Given the description of an element on the screen output the (x, y) to click on. 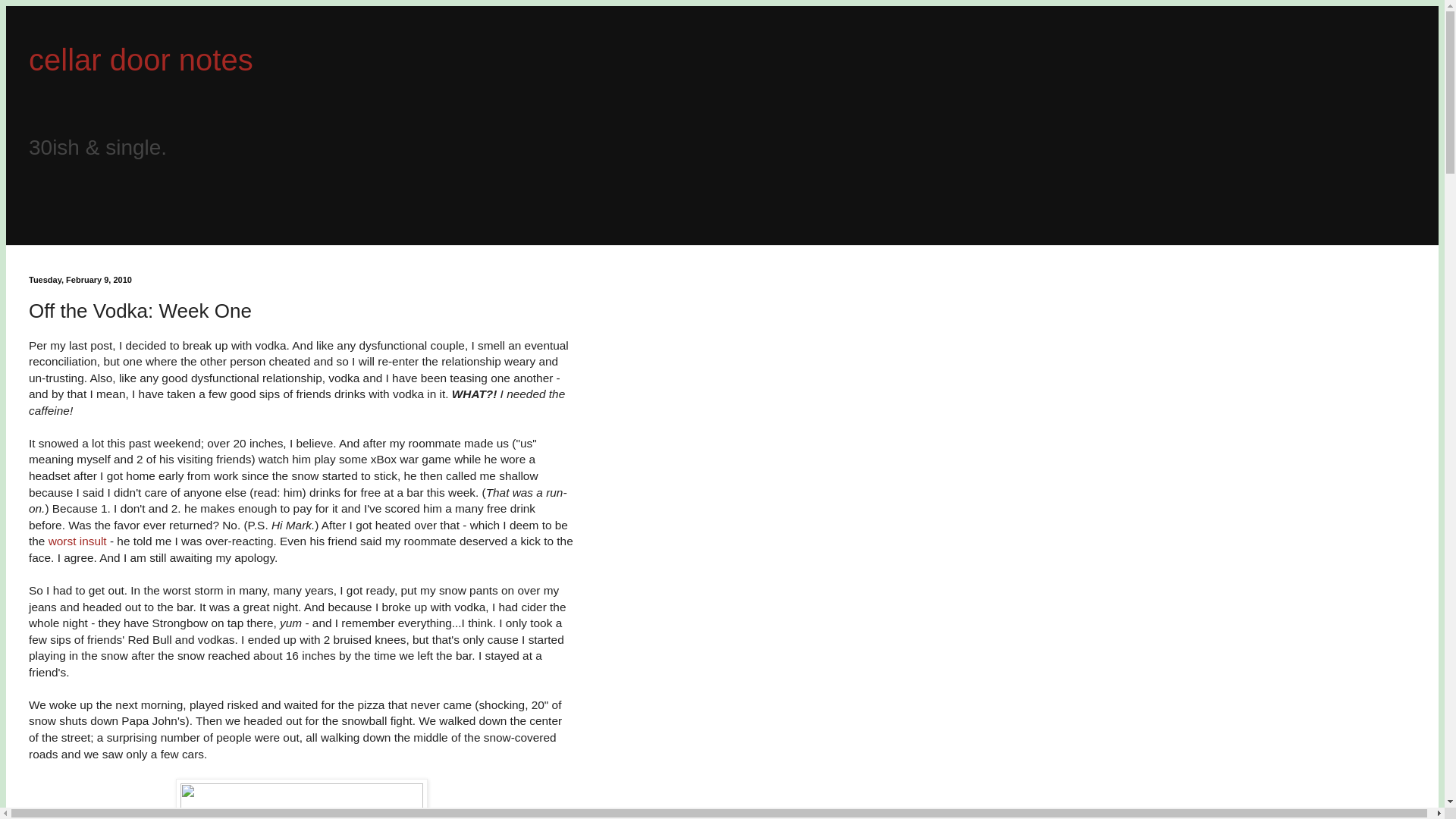
cellar door notes (141, 59)
worst insult (77, 540)
